Given the description of an element on the screen output the (x, y) to click on. 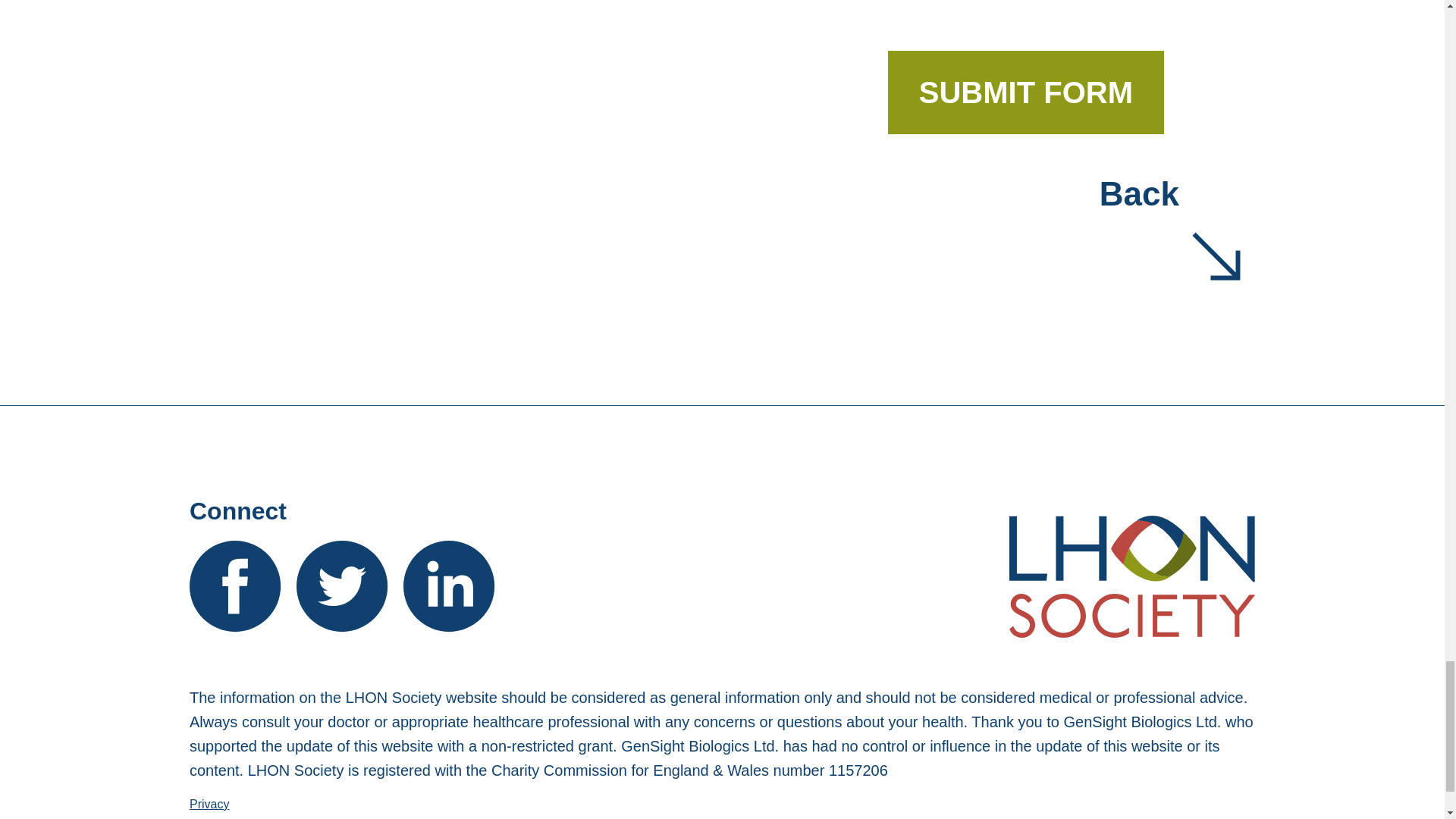
Facebook (235, 585)
Twitter (342, 585)
LinkedIn (449, 585)
